Given the description of an element on the screen output the (x, y) to click on. 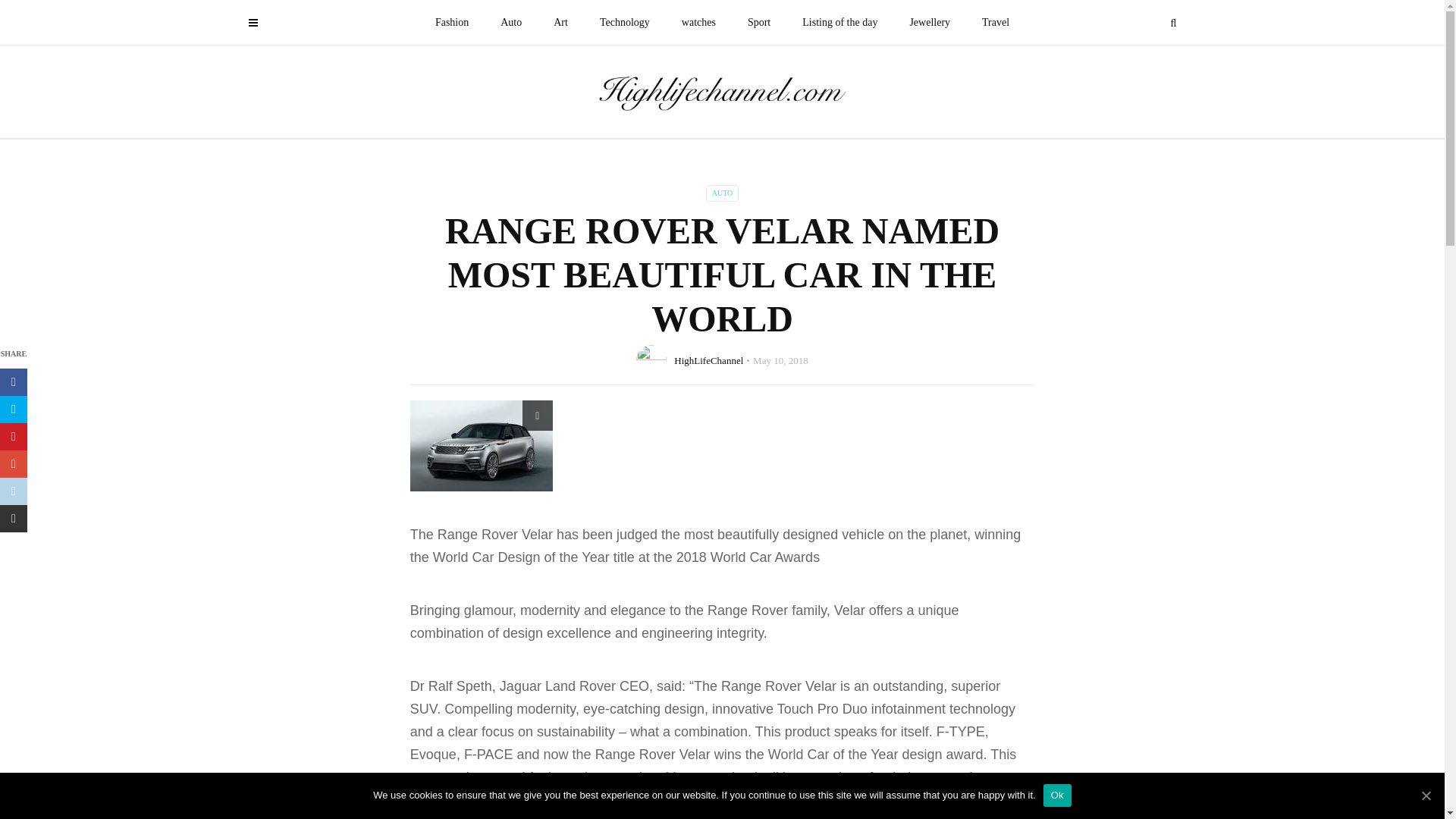
AUTO (722, 193)
watches (698, 22)
Technology (624, 22)
Listing of the day (839, 22)
HighLifeChannel (708, 360)
Art (560, 22)
Fashion (451, 22)
Sport (759, 22)
Auto (510, 22)
Jewellery (929, 22)
Travel (995, 22)
